Given the description of an element on the screen output the (x, y) to click on. 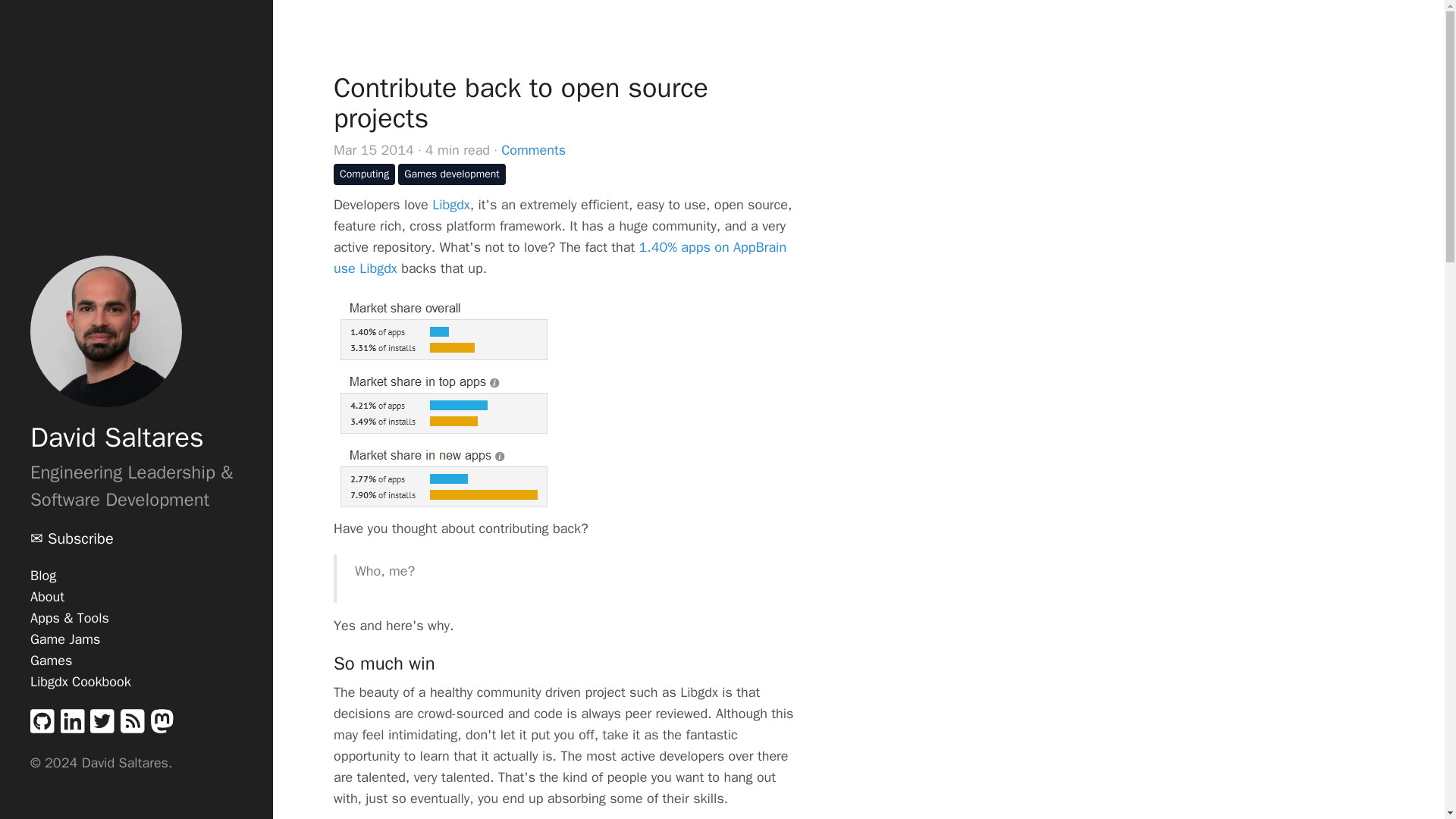
Blog (43, 575)
Computing (363, 174)
Libgdx Cookbook (80, 681)
Games development (451, 174)
Libgdx (451, 204)
Contribute back to open source projects (569, 102)
Comments (533, 149)
About (47, 596)
Games (50, 660)
Game Jams (65, 638)
